Given the description of an element on the screen output the (x, y) to click on. 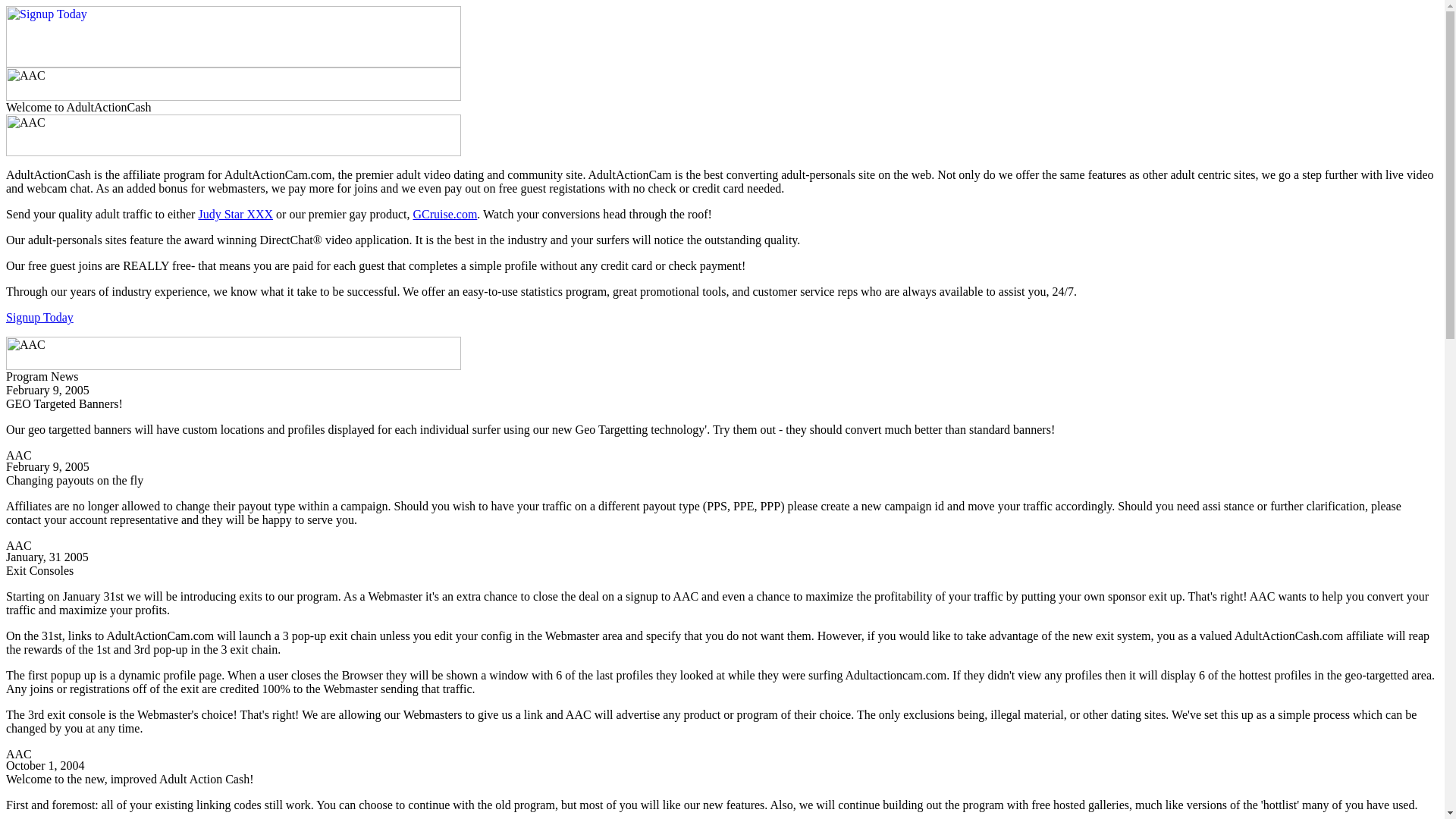
Signup Today (39, 317)
Judy Star XXX (235, 214)
GCruise.com (444, 214)
